Given the description of an element on the screen output the (x, y) to click on. 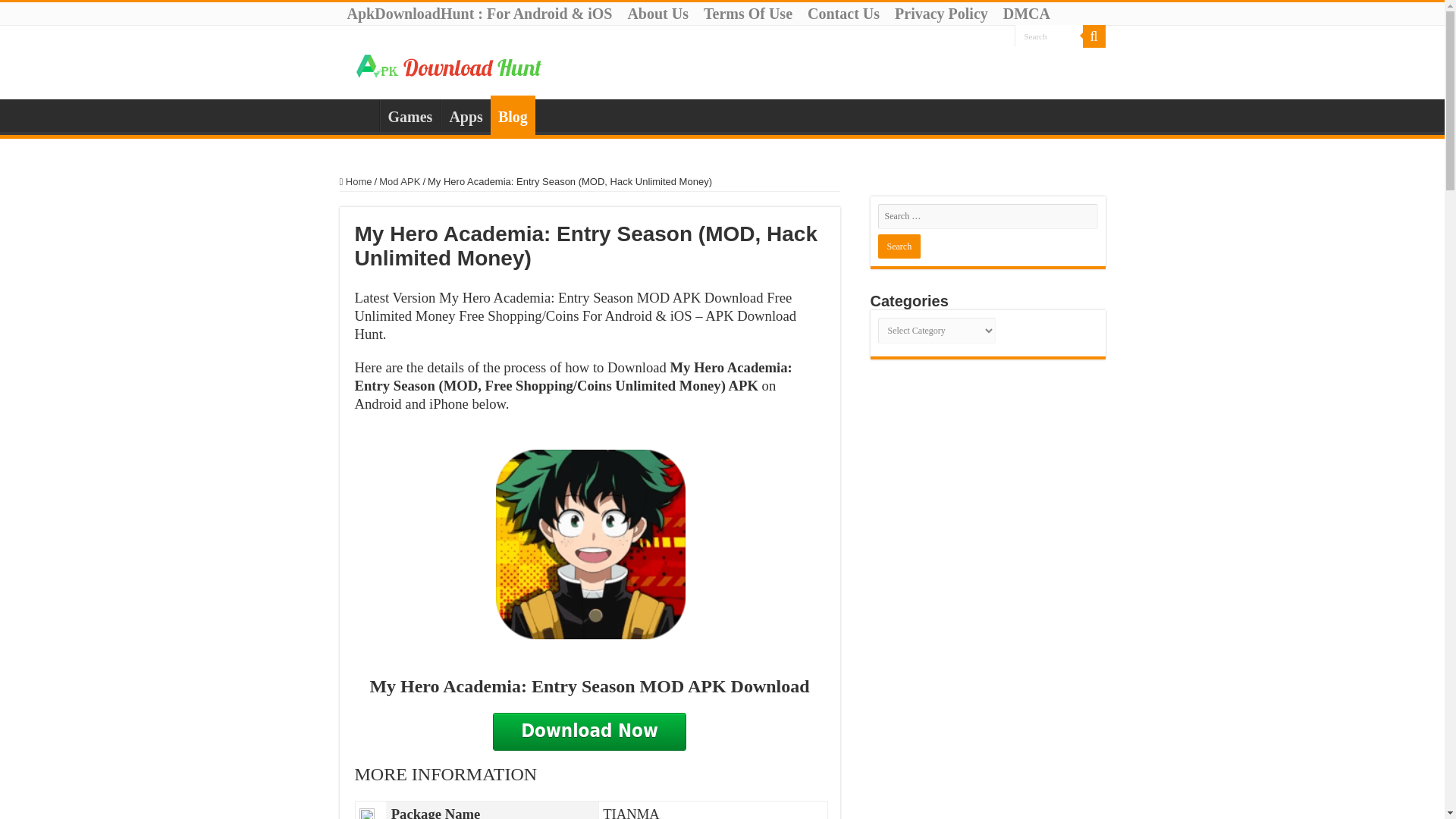
Contact Us (842, 13)
Home (355, 181)
Blog (512, 115)
Search (899, 246)
Search (1048, 35)
Search (1094, 36)
DMCA (1026, 13)
Download Now (589, 731)
Privacy Policy (940, 13)
About Us (657, 13)
